Given the description of an element on the screen output the (x, y) to click on. 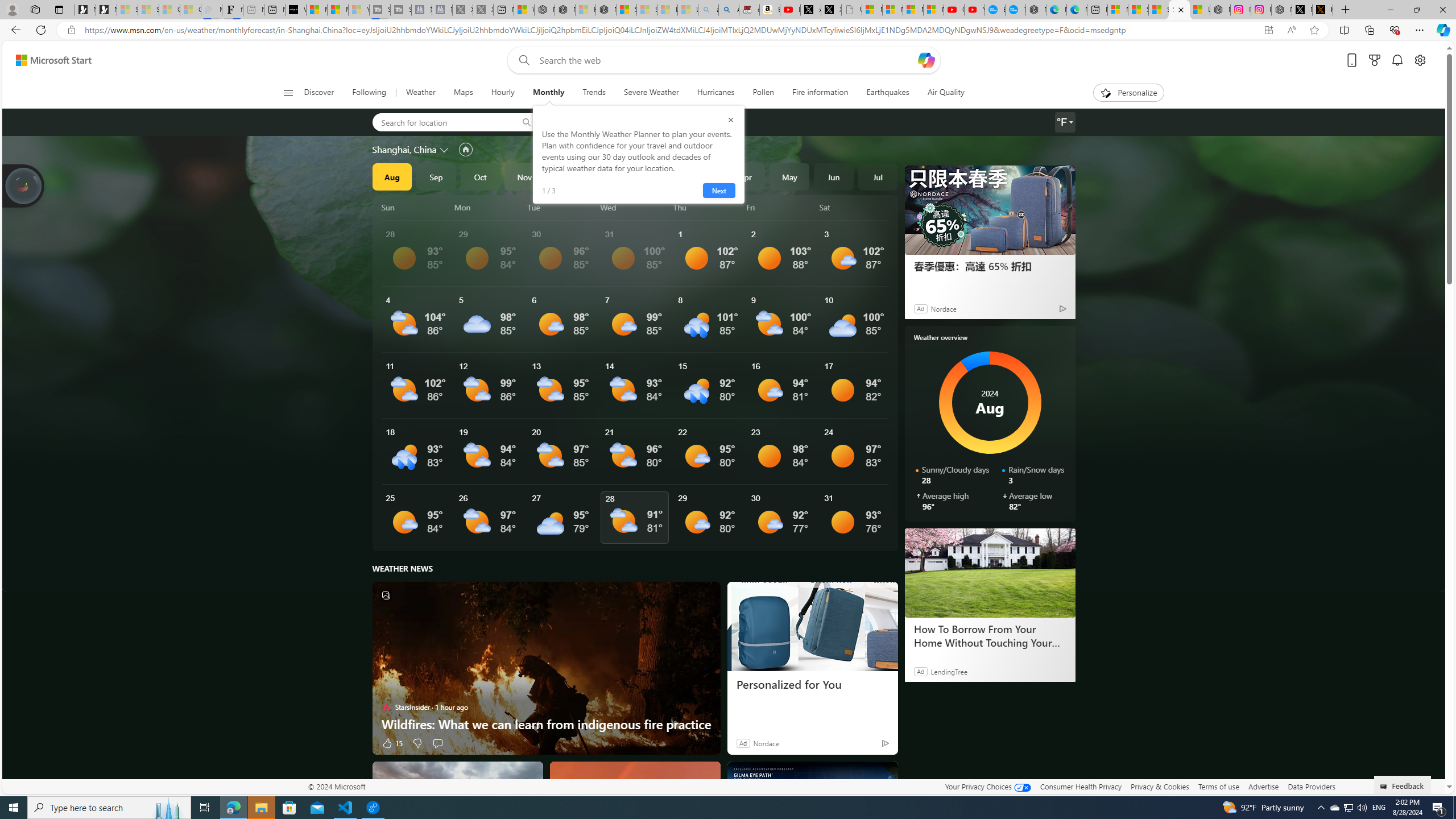
Skip to footer (46, 59)
YouTube Kids - An App Created for Kids to Explore Content (974, 9)
Personalized for You (812, 684)
Apr (745, 176)
